Given the description of an element on the screen output the (x, y) to click on. 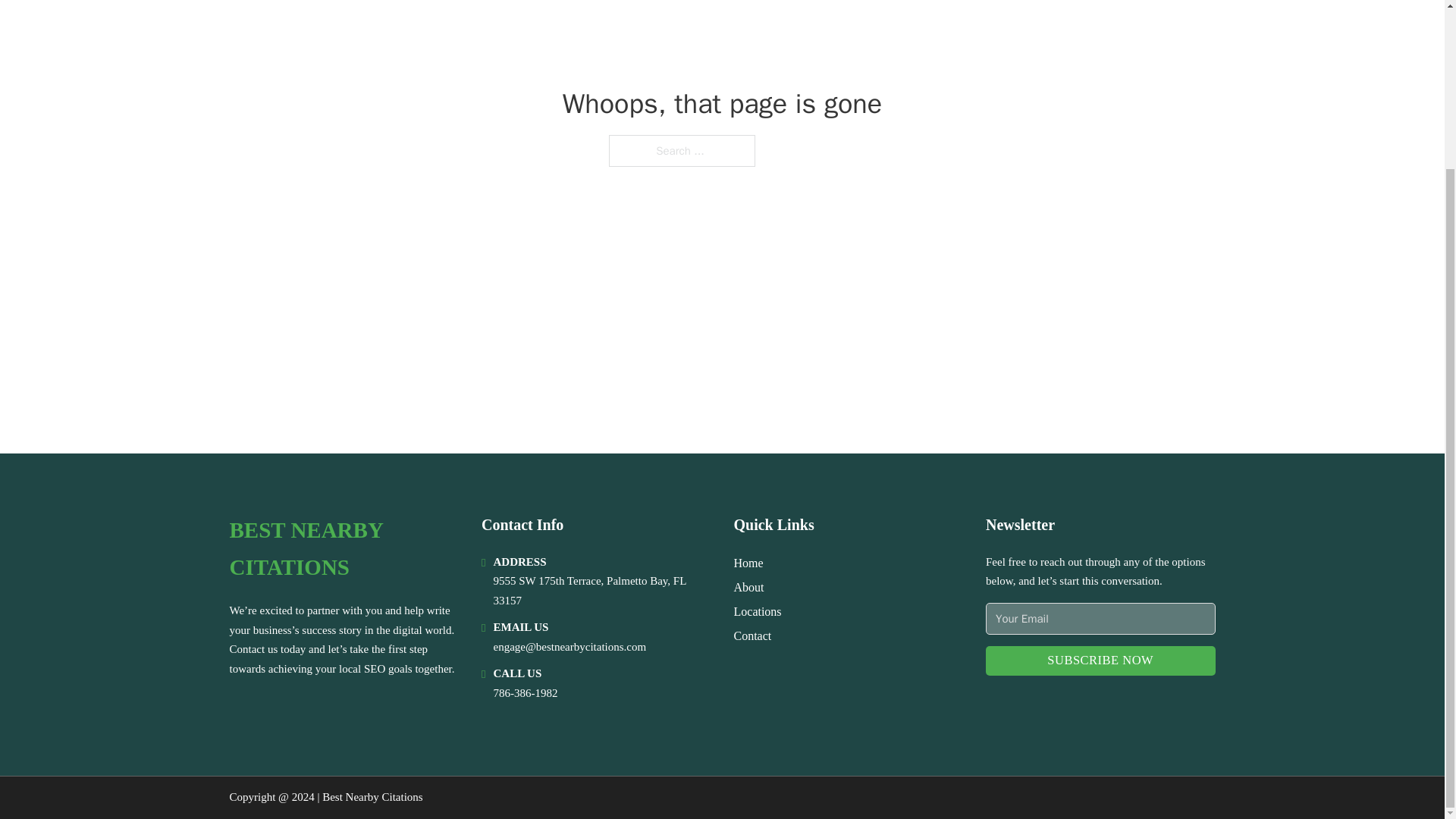
About (748, 587)
BEST NEARBY CITATIONS (343, 549)
Contact (752, 635)
786-386-1982 (525, 693)
Home (747, 562)
SUBSCRIBE NOW (1100, 660)
Locations (757, 611)
